Given the description of an element on the screen output the (x, y) to click on. 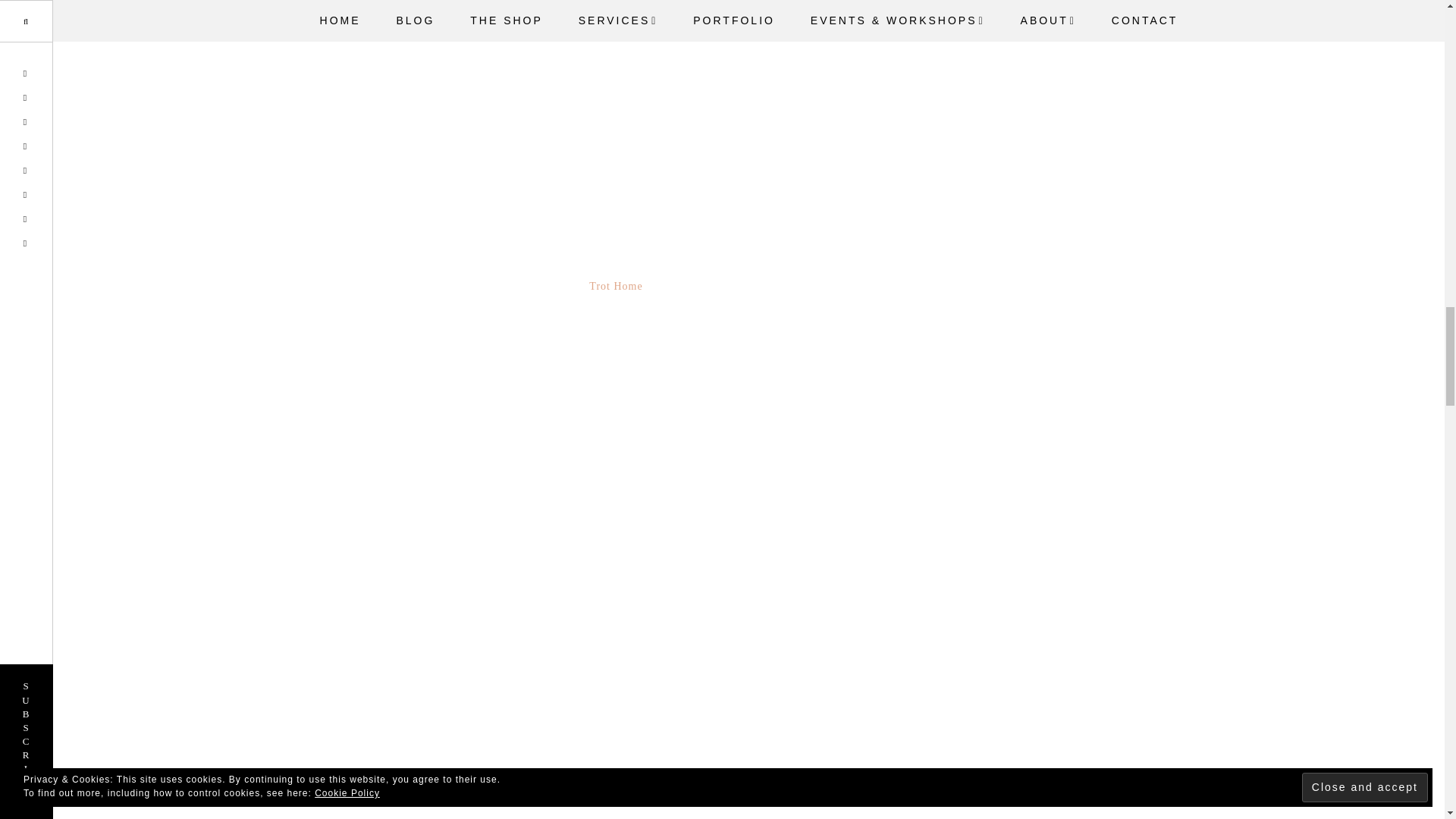
Trot Home (615, 285)
